Given the description of an element on the screen output the (x, y) to click on. 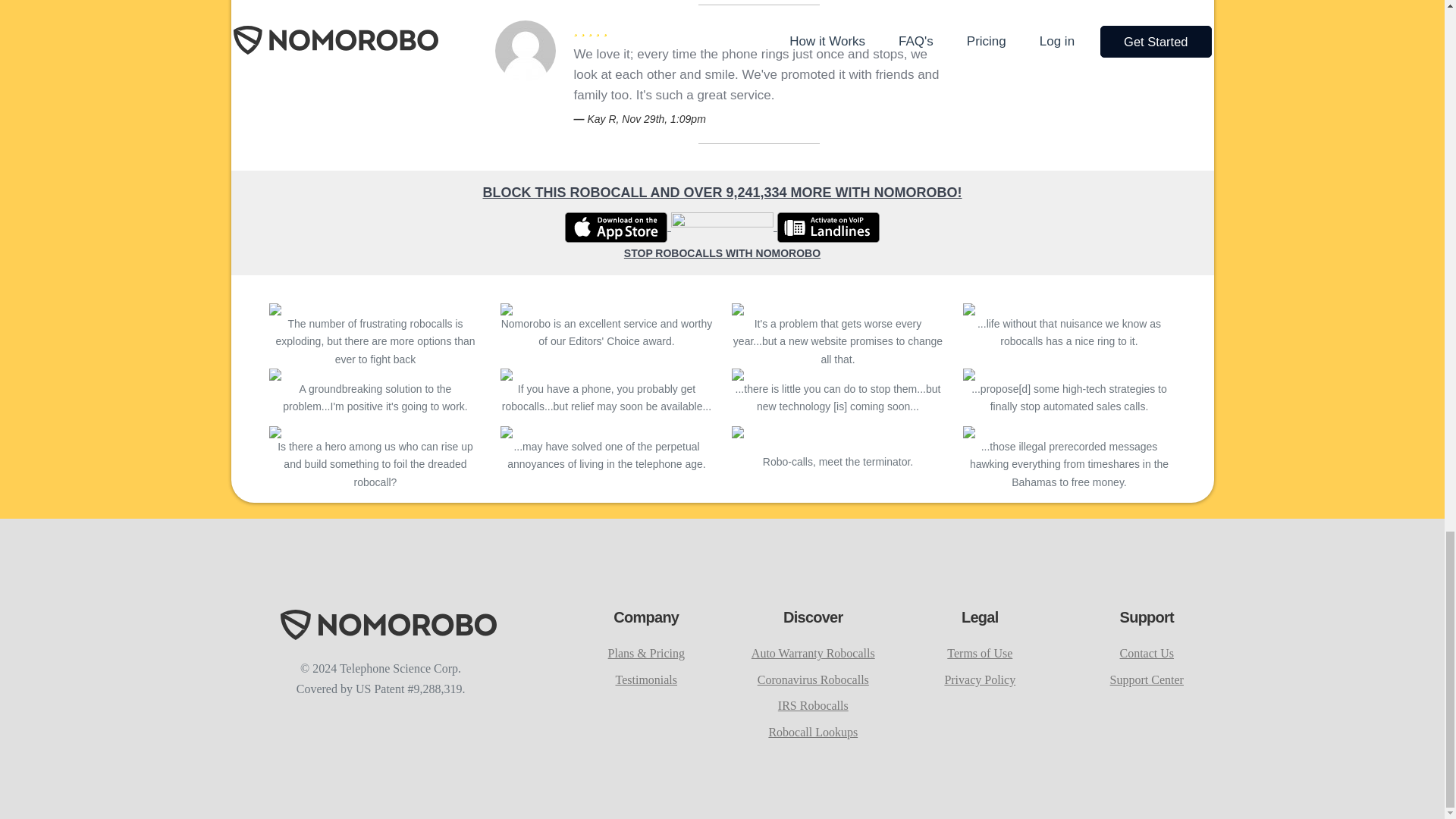
Testimonials (646, 679)
BLOCK THIS ROBOCALL AND OVER 9,241,334 MORE WITH NOMOROBO! (721, 192)
